Given the description of an element on the screen output the (x, y) to click on. 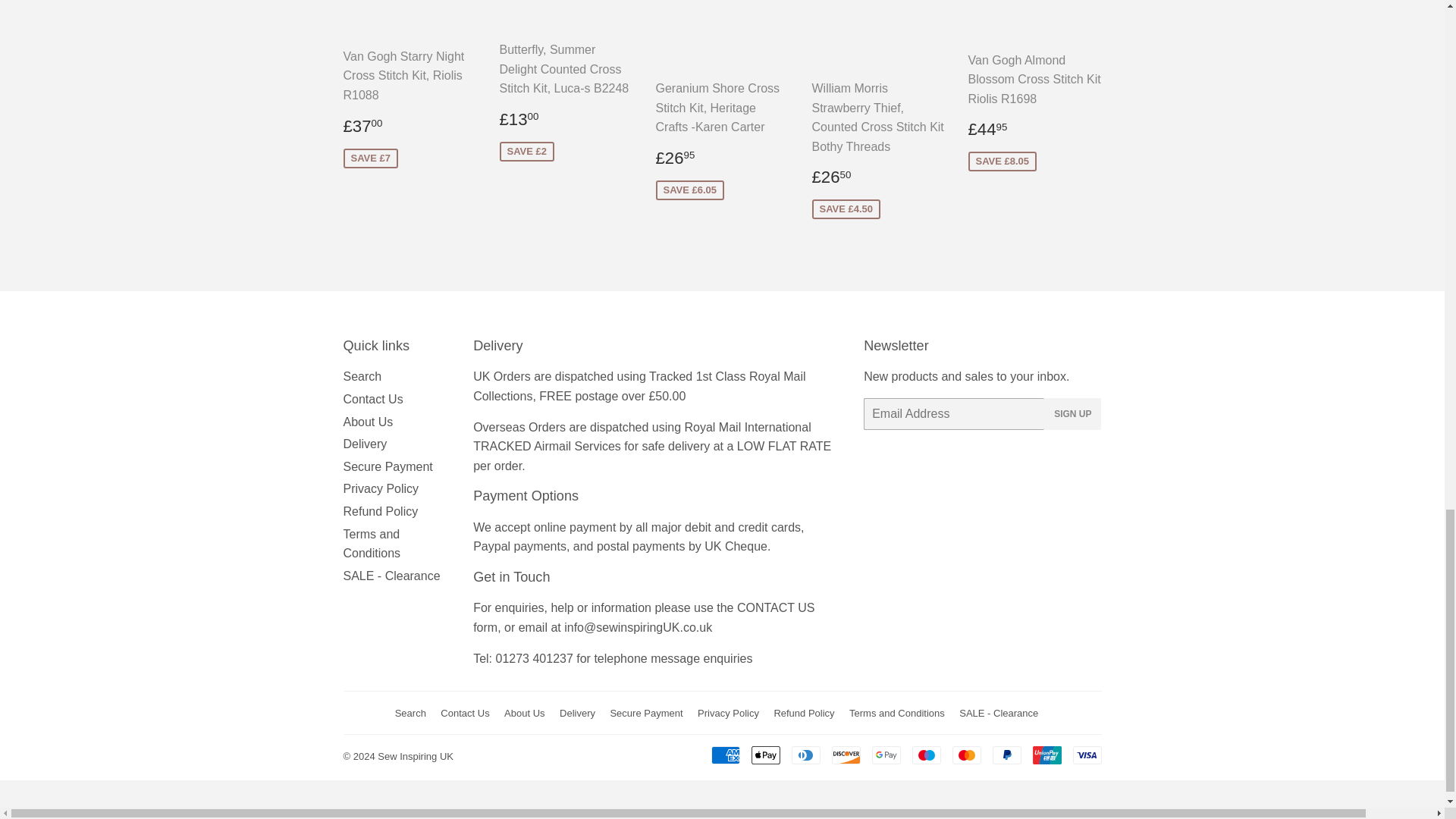
PayPal (1005, 755)
Visa (1085, 755)
American Express (725, 755)
Discover (845, 755)
Union Pay (1046, 755)
Google Pay (886, 755)
Maestro (925, 755)
Mastercard (966, 755)
Apple Pay (764, 755)
Diners Club (806, 755)
